Given the description of an element on the screen output the (x, y) to click on. 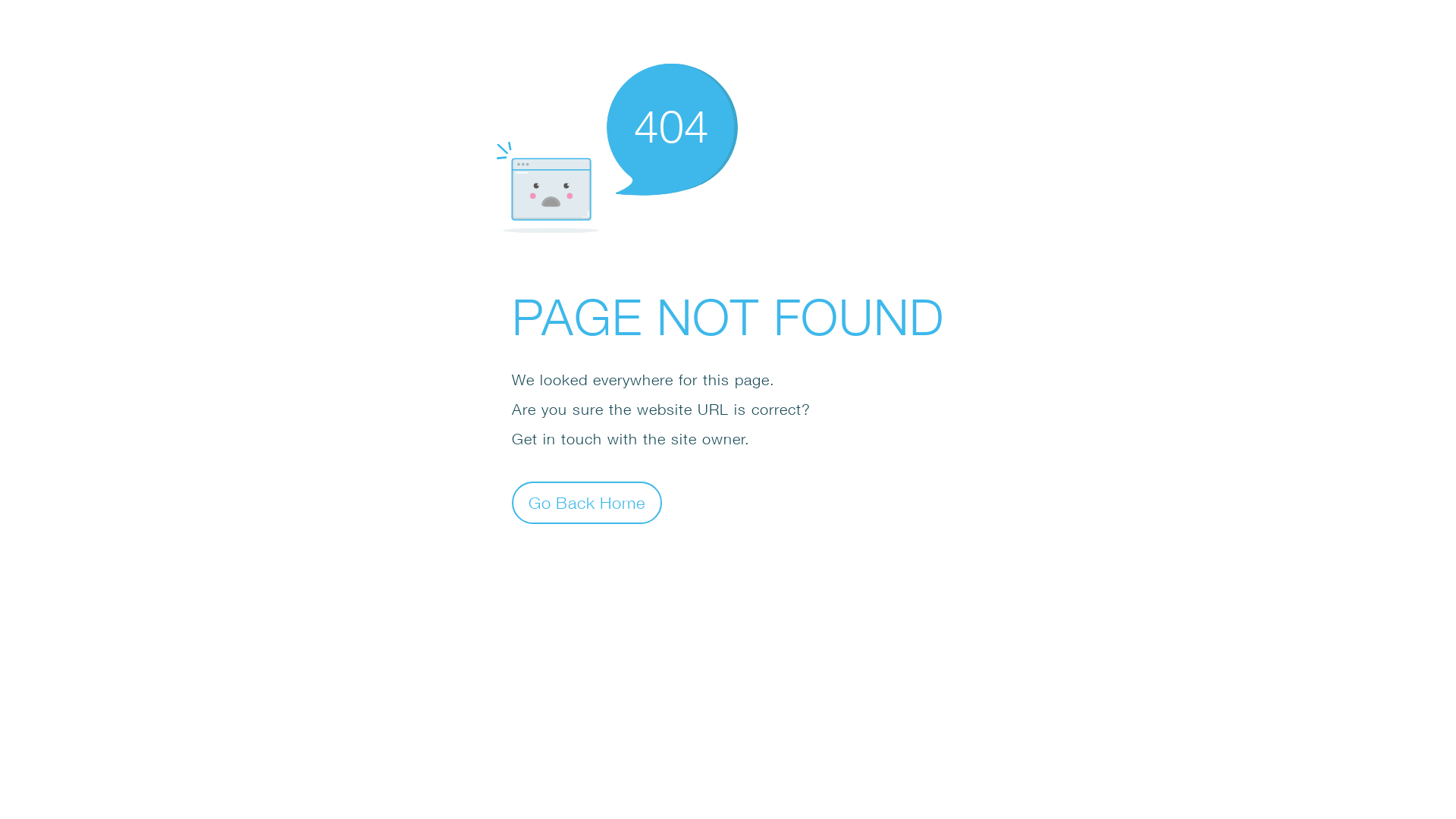
Go Back Home Element type: text (586, 502)
